Given the description of an element on the screen output the (x, y) to click on. 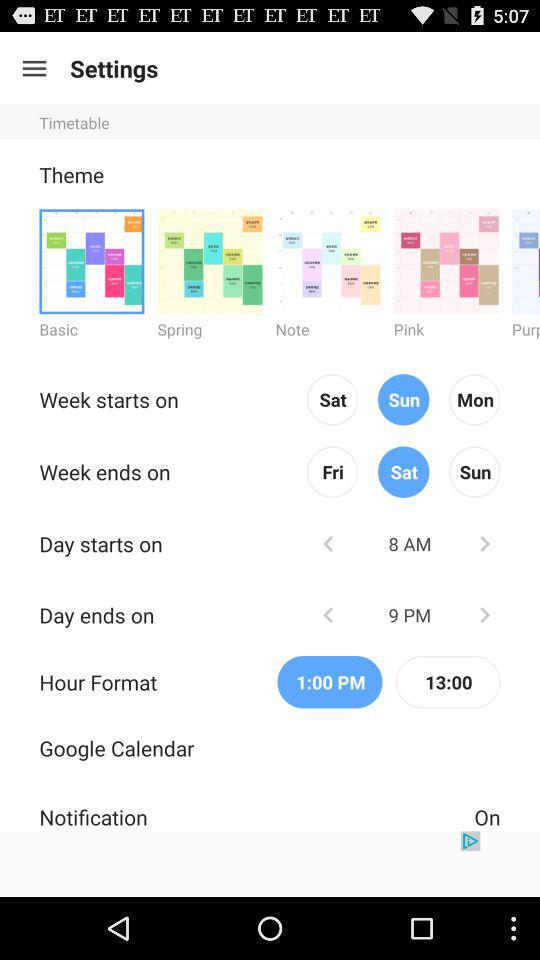
click to select (525, 260)
